Given the description of an element on the screen output the (x, y) to click on. 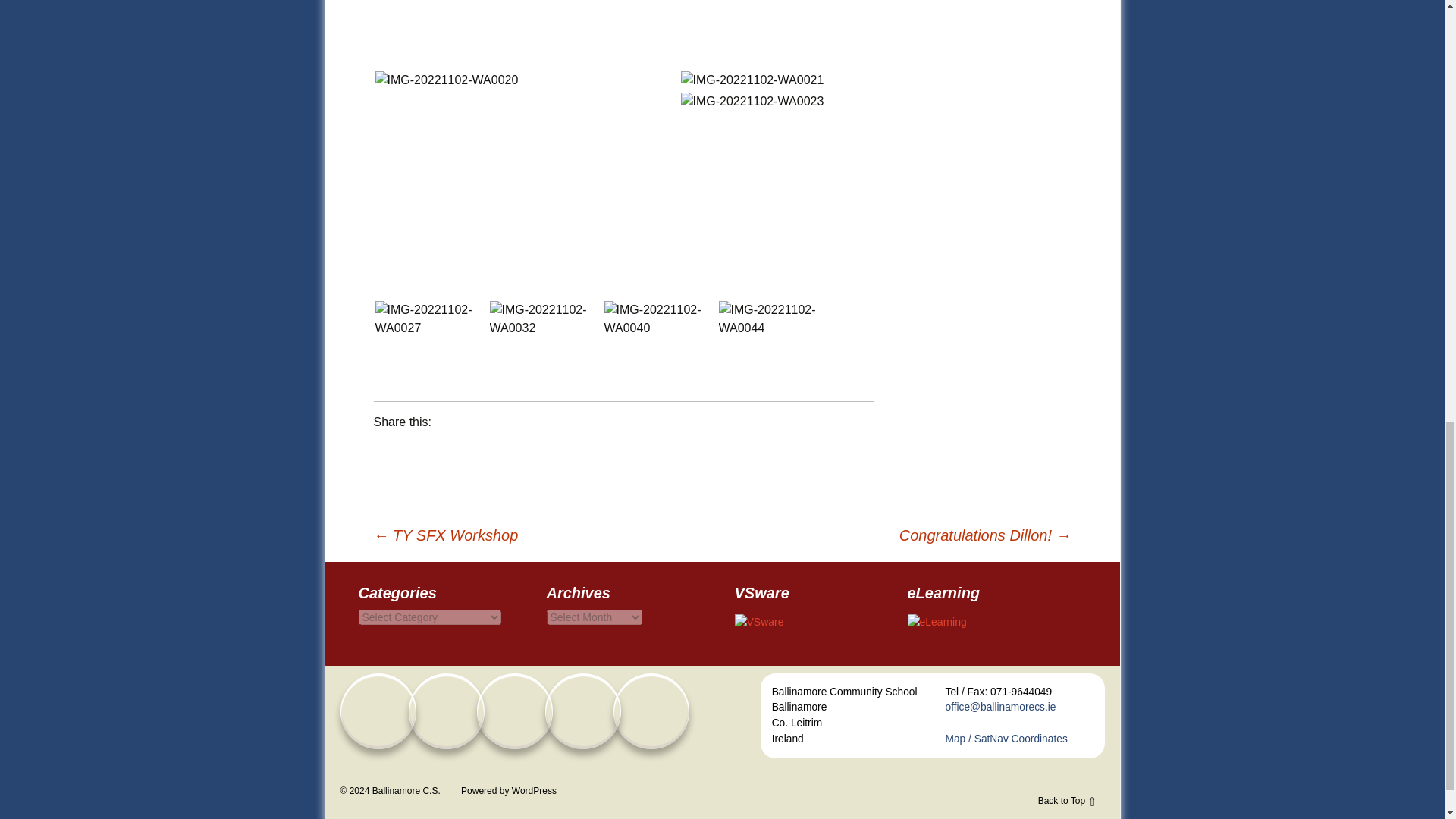
IMG-20221102-WA0027 (430, 319)
IMG-20221102-WA0020 (446, 80)
IMG-20221102-WA0021 (752, 80)
IMG-20221102-WA0023 (752, 101)
